Given the description of an element on the screen output the (x, y) to click on. 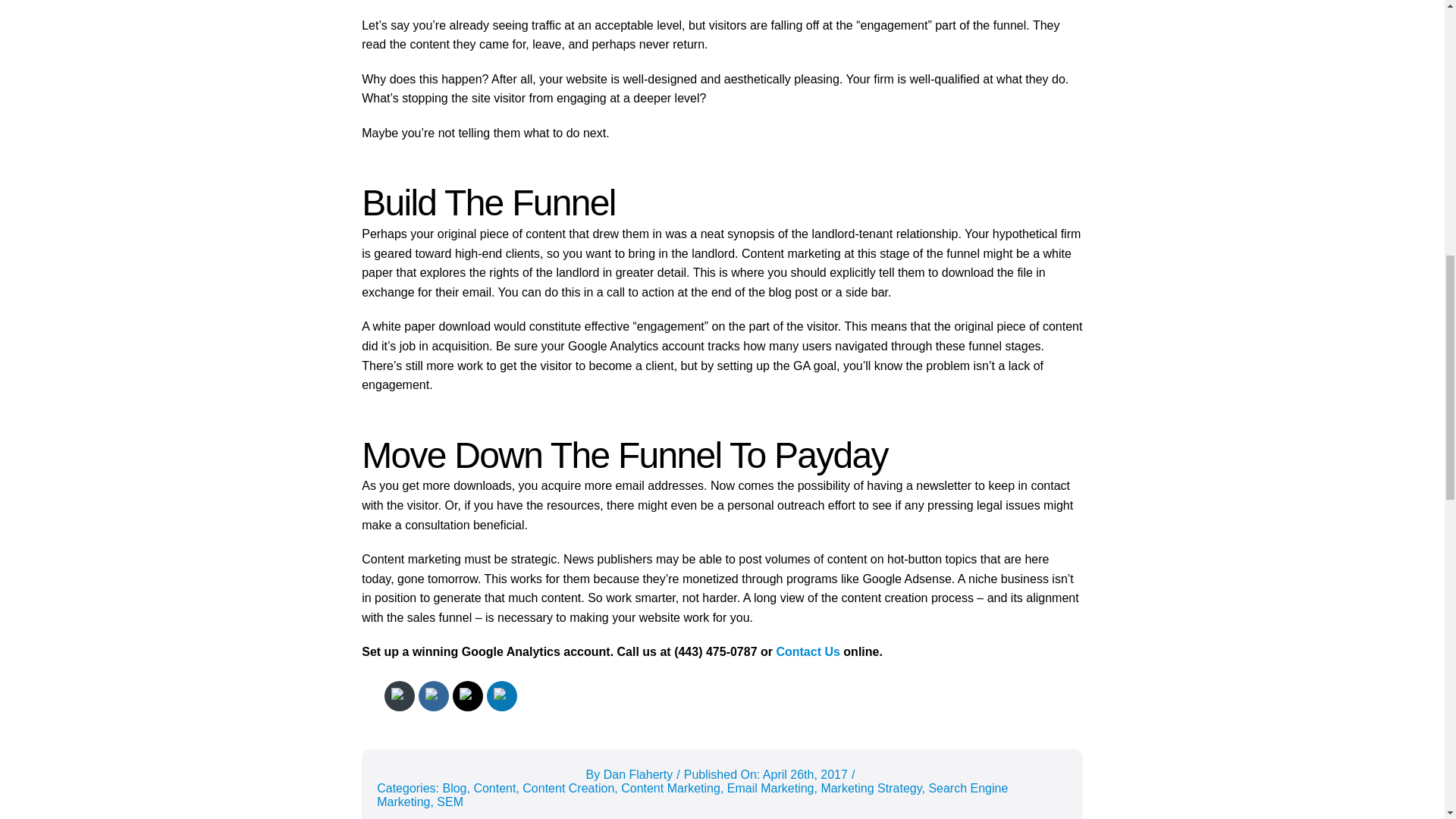
Twitter (468, 695)
Follow by Email (399, 695)
LinkedIn (502, 695)
Facebook (433, 695)
